Given the description of an element on the screen output the (x, y) to click on. 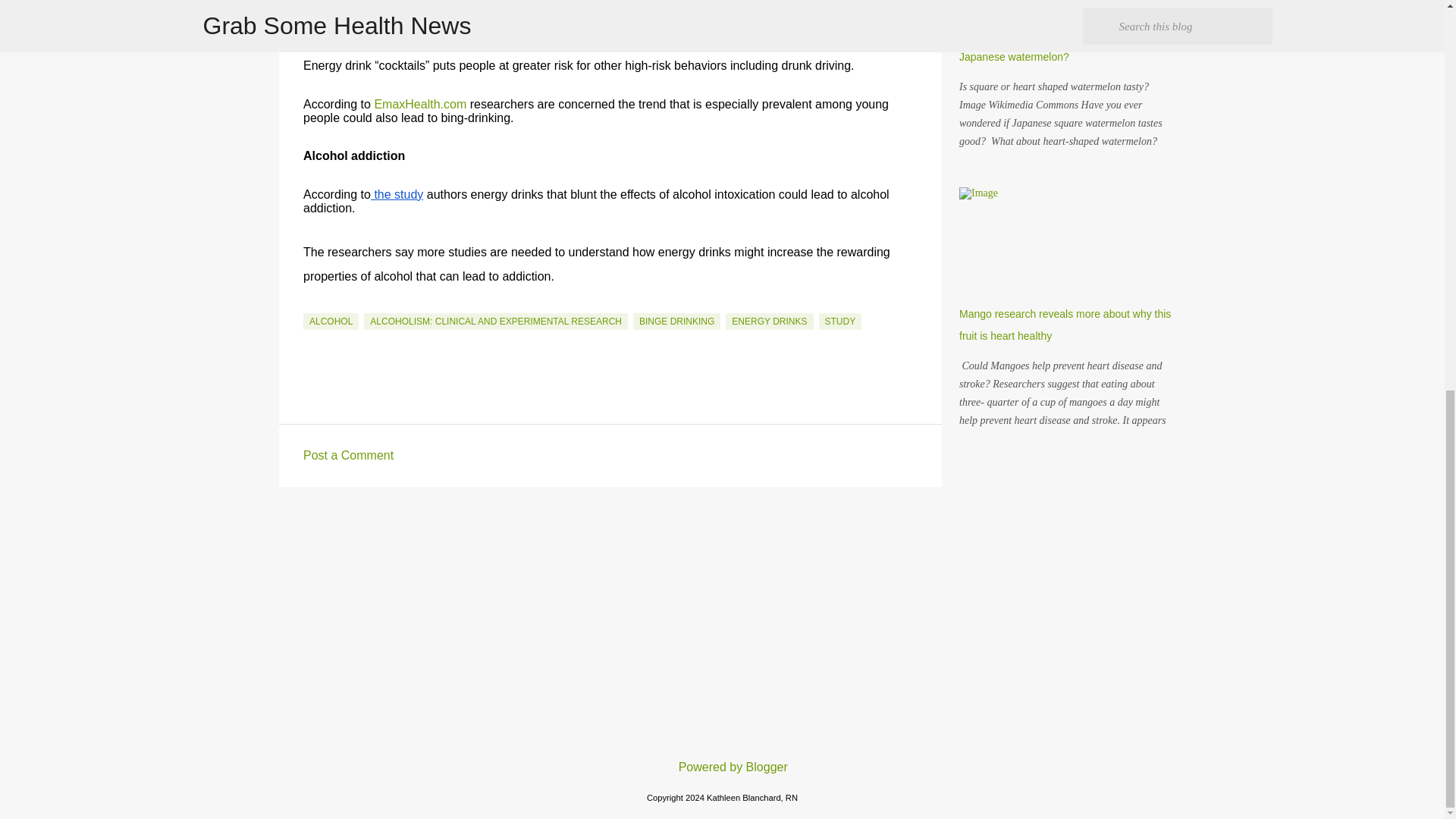
ALCOHOLISM: CLINICAL AND EXPERIMENTAL RESEARCH (495, 321)
ALCOHOL (330, 321)
EmaxHealth.com (419, 103)
Powered by Blogger (721, 766)
ENERGY DRINKS (768, 321)
Email Post (311, 303)
Can you eat square or heart shaped Japanese watermelon? (1044, 45)
 the study (397, 194)
BINGE DRINKING (676, 321)
